Given the description of an element on the screen output the (x, y) to click on. 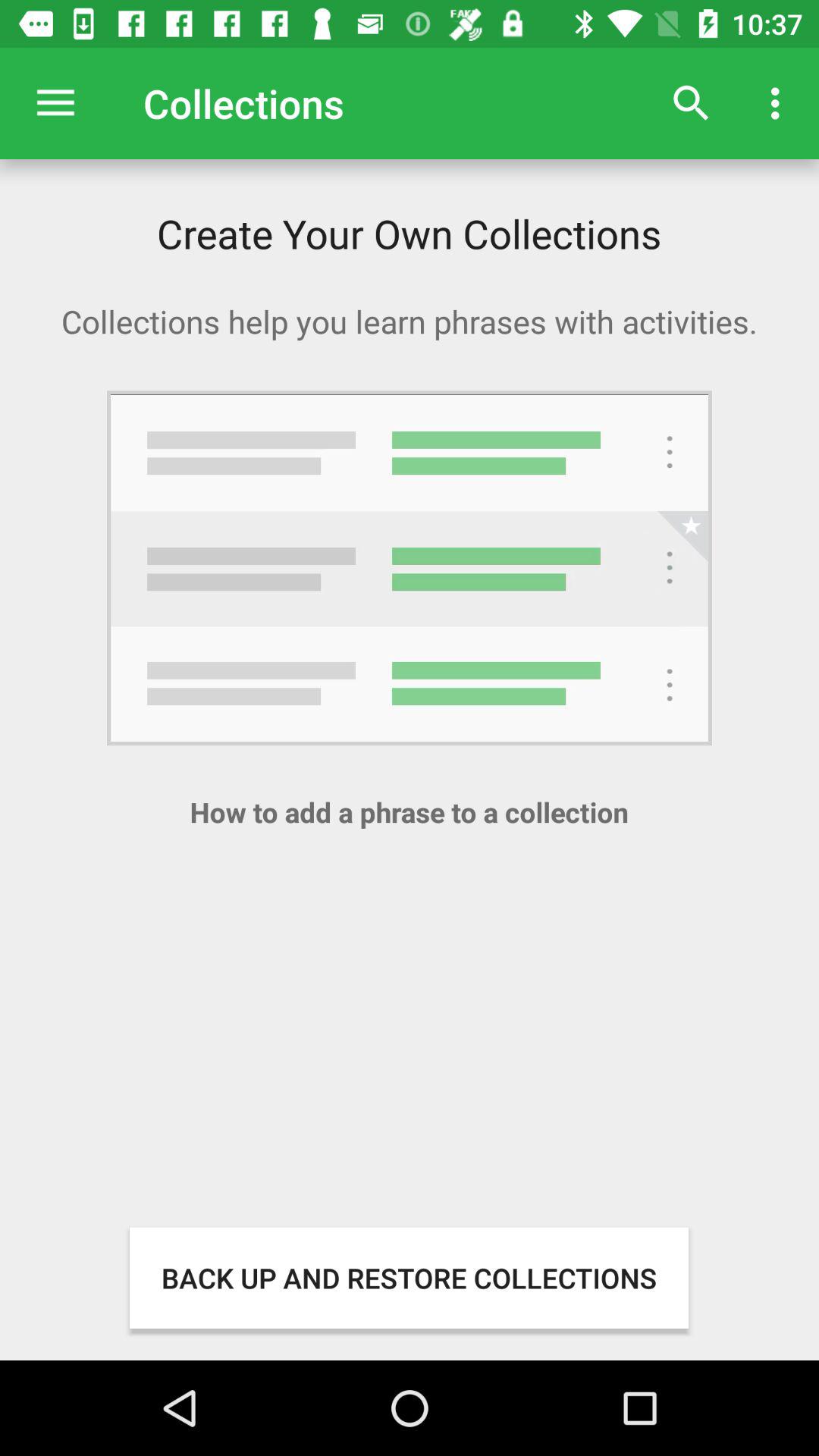
menu (55, 103)
